Given the description of an element on the screen output the (x, y) to click on. 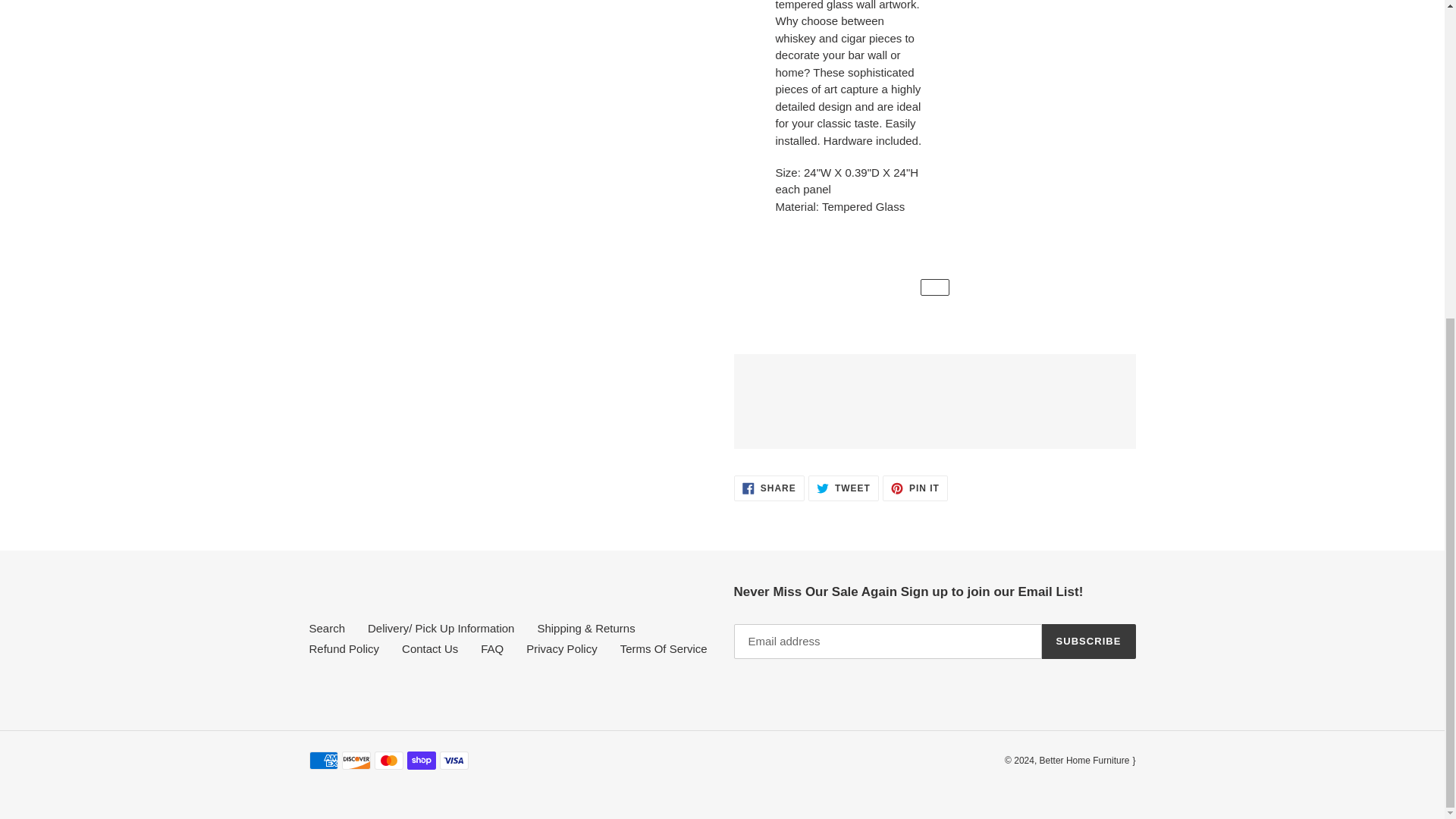
Refund Policy (344, 648)
Search (769, 488)
